Given the description of an element on the screen output the (x, y) to click on. 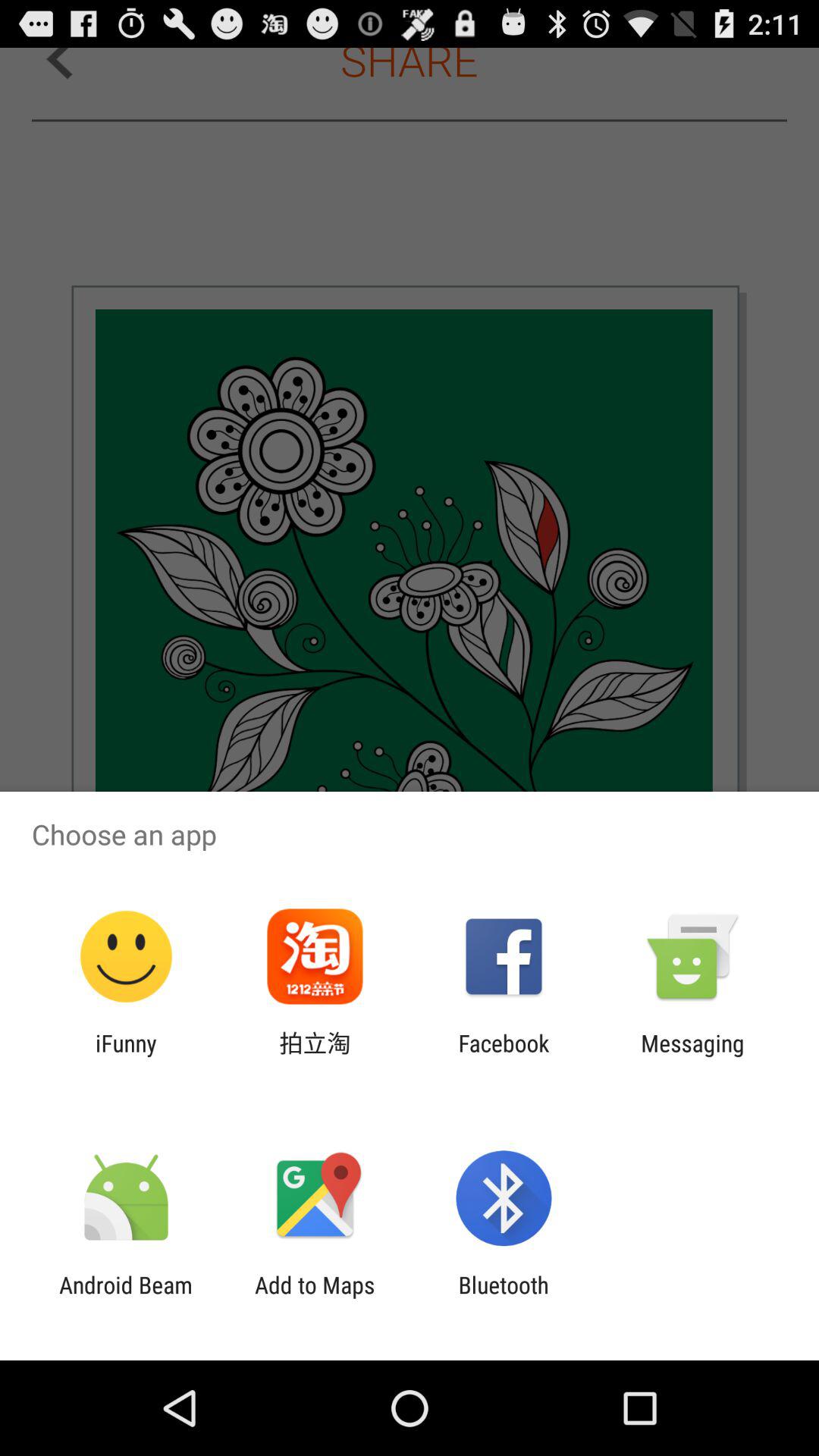
launch the item to the left of the facebook icon (314, 1056)
